Given the description of an element on the screen output the (x, y) to click on. 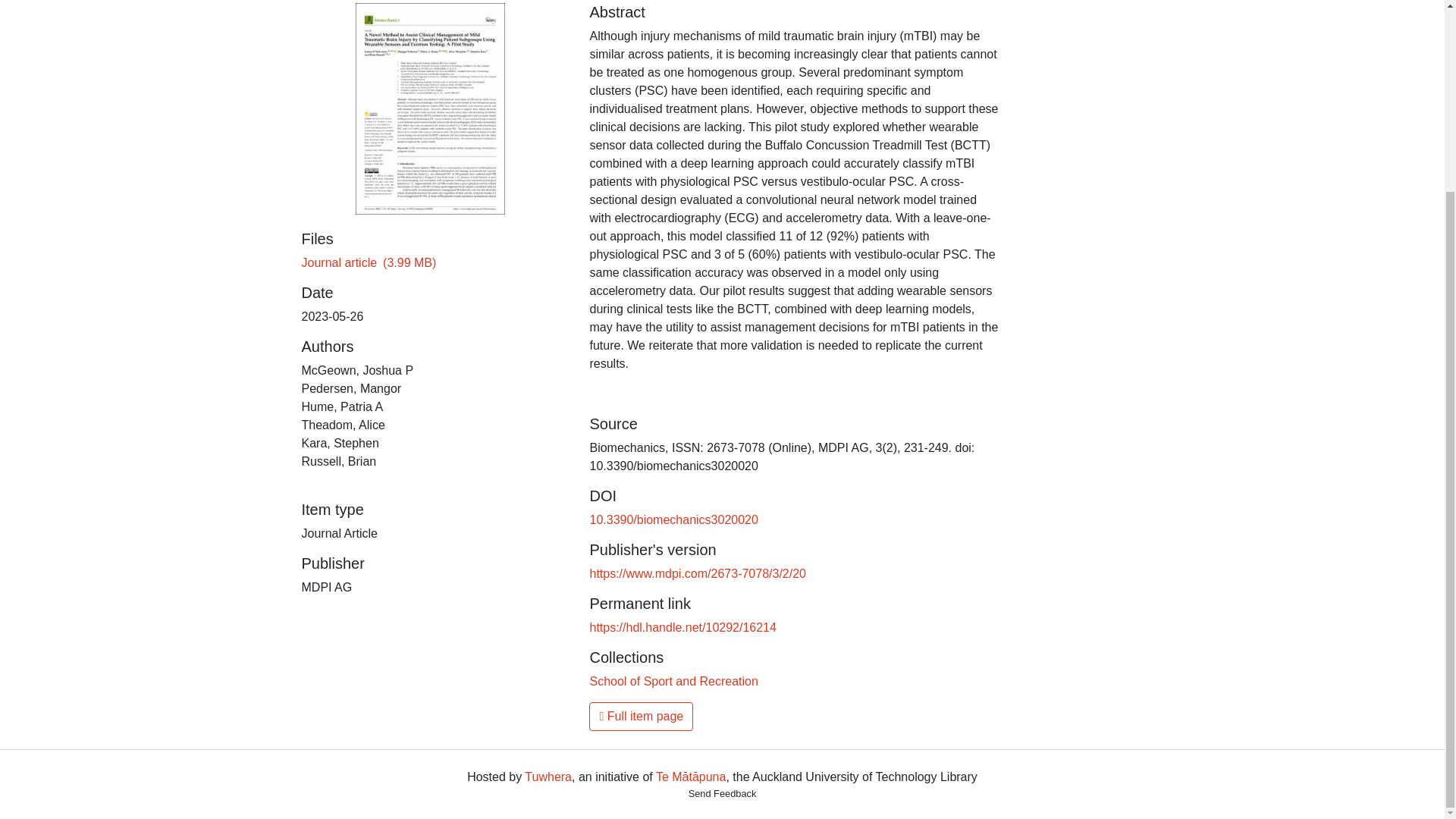
Tuwhera (548, 776)
School of Sport and Recreation (673, 680)
Send Feedback (722, 793)
Full item page (641, 716)
